Given the description of an element on the screen output the (x, y) to click on. 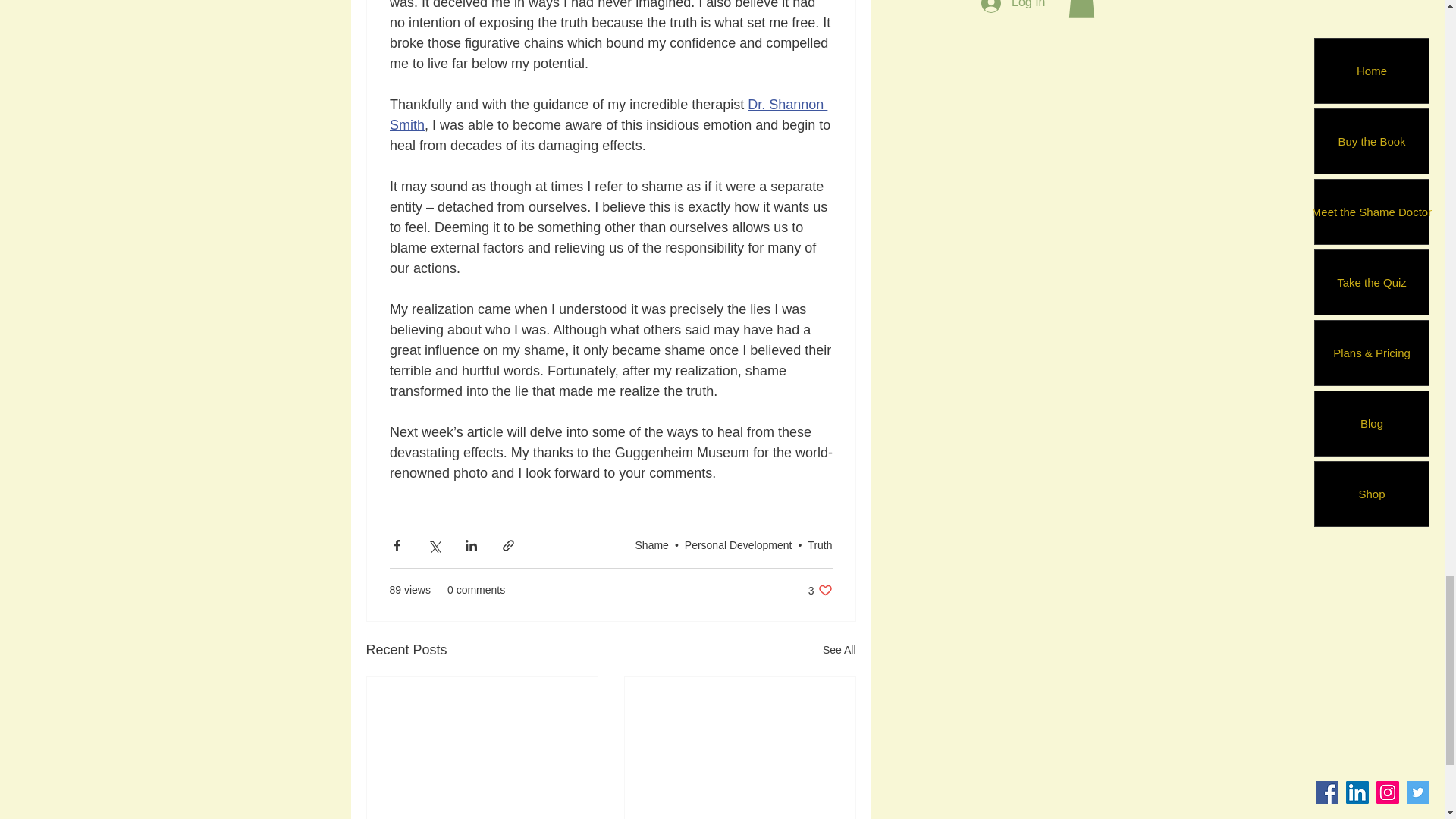
Shame (651, 544)
Dr. Shannon Smith (608, 114)
See All (839, 649)
Personal Development (738, 544)
Truth (819, 544)
